Given the description of an element on the screen output the (x, y) to click on. 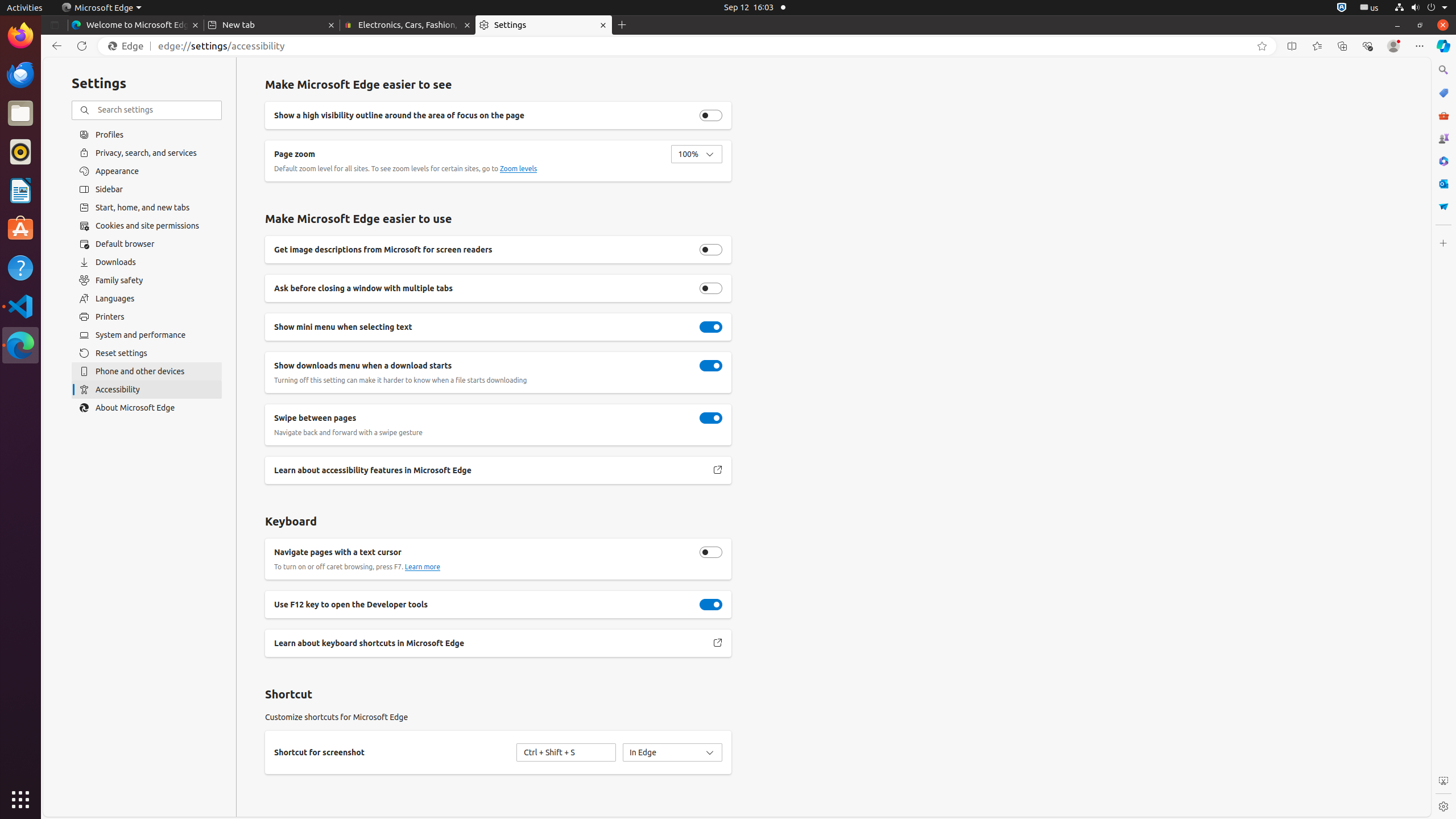
Navigate pages with a text cursor Element type: check-box (710, 551)
Drop Element type: push-button (1443, 206)
Accessibility Element type: tree-item (146, 389)
Microsoft 365 Element type: push-button (1443, 160)
Use F12 key to open the Developer tools Element type: check-box (710, 604)
